Given the description of an element on the screen output the (x, y) to click on. 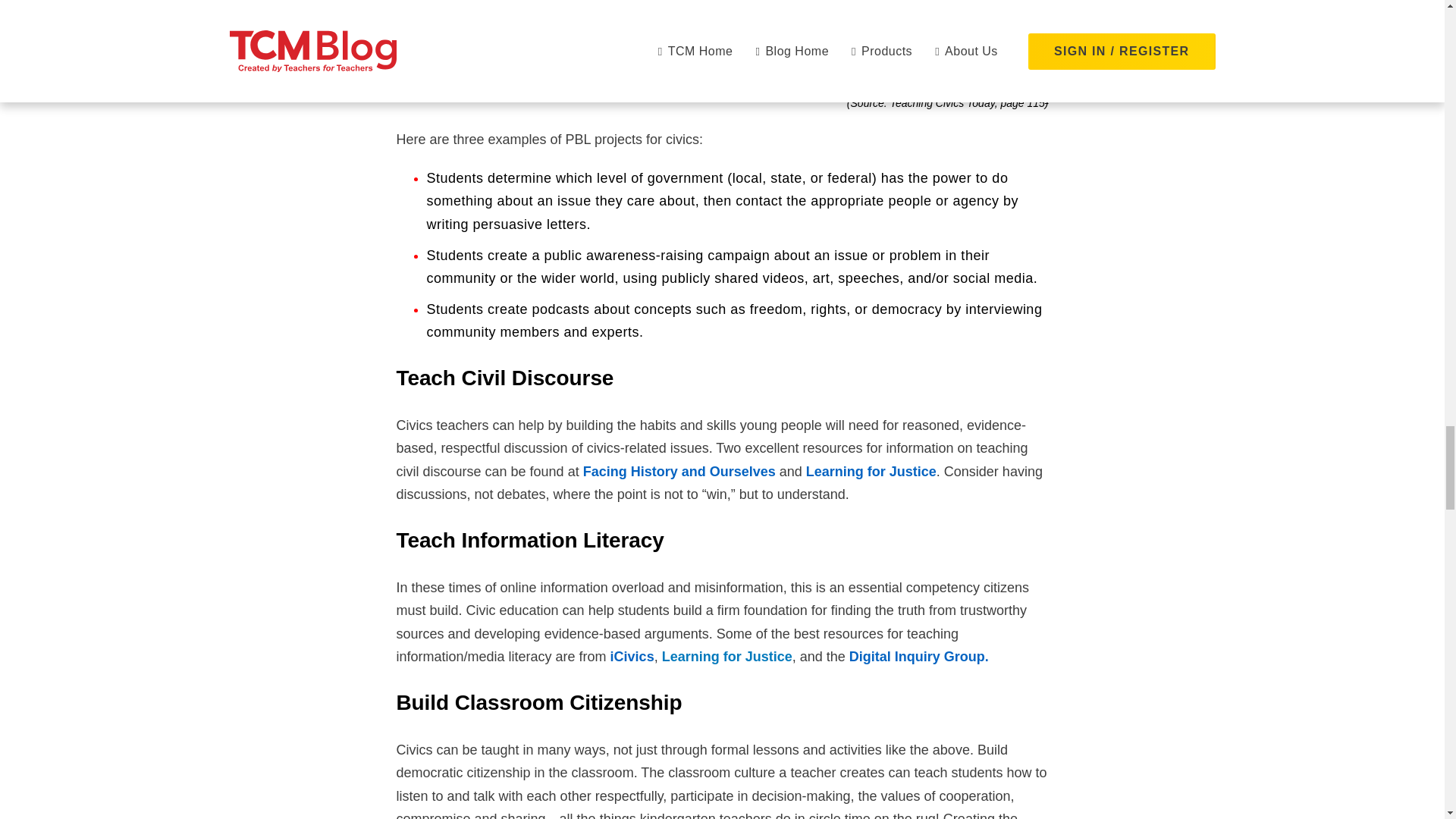
Learning for Justice (871, 471)
Facing History and Ourselves (679, 471)
Digital Inquiry Group. (918, 656)
iCivics (631, 656)
Learning for Justice (727, 656)
